Given the description of an element on the screen output the (x, y) to click on. 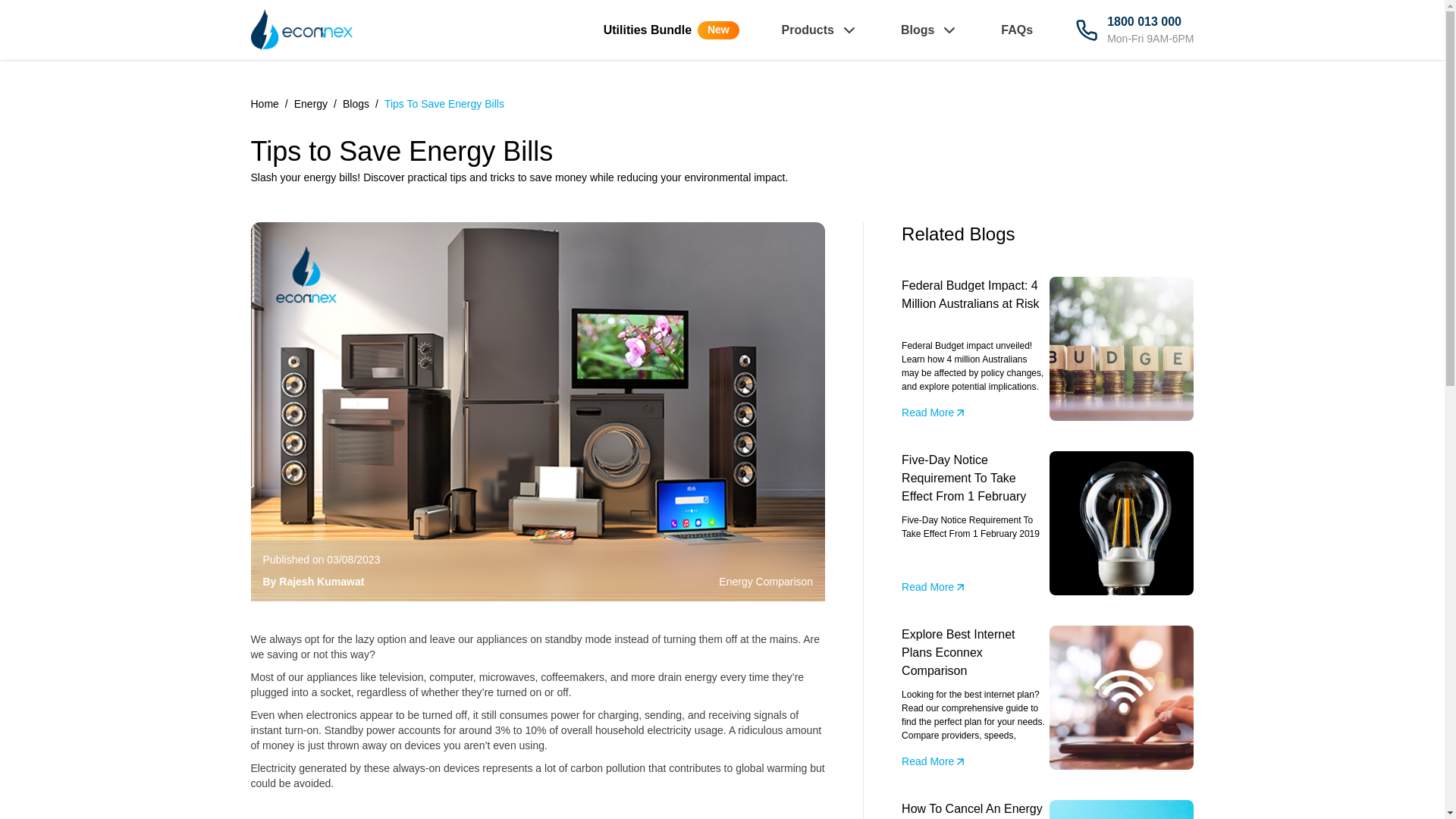
Read More (933, 587)
Read More (933, 412)
Home (264, 104)
Read More (933, 761)
Tips To Save Energy Bills (1134, 29)
Blogs (443, 104)
FAQs (671, 30)
Energy (355, 104)
